Given the description of an element on the screen output the (x, y) to click on. 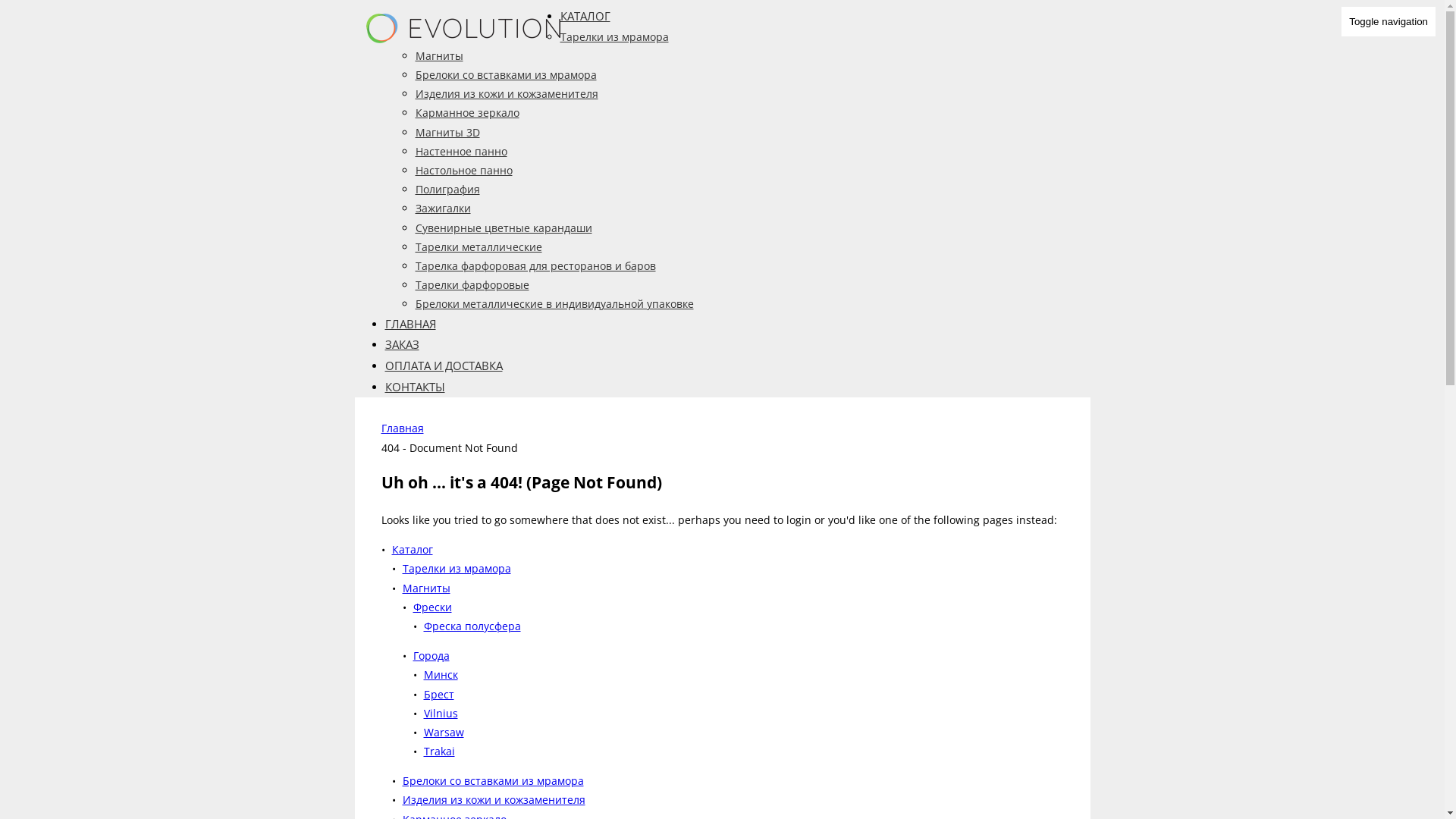
Warsaw Element type: text (443, 731)
need to login Element type: text (777, 519)
Trakai Element type: text (438, 750)
Vilnius Element type: text (440, 713)
Toggle navigation Element type: text (1388, 21)
